Given the description of an element on the screen output the (x, y) to click on. 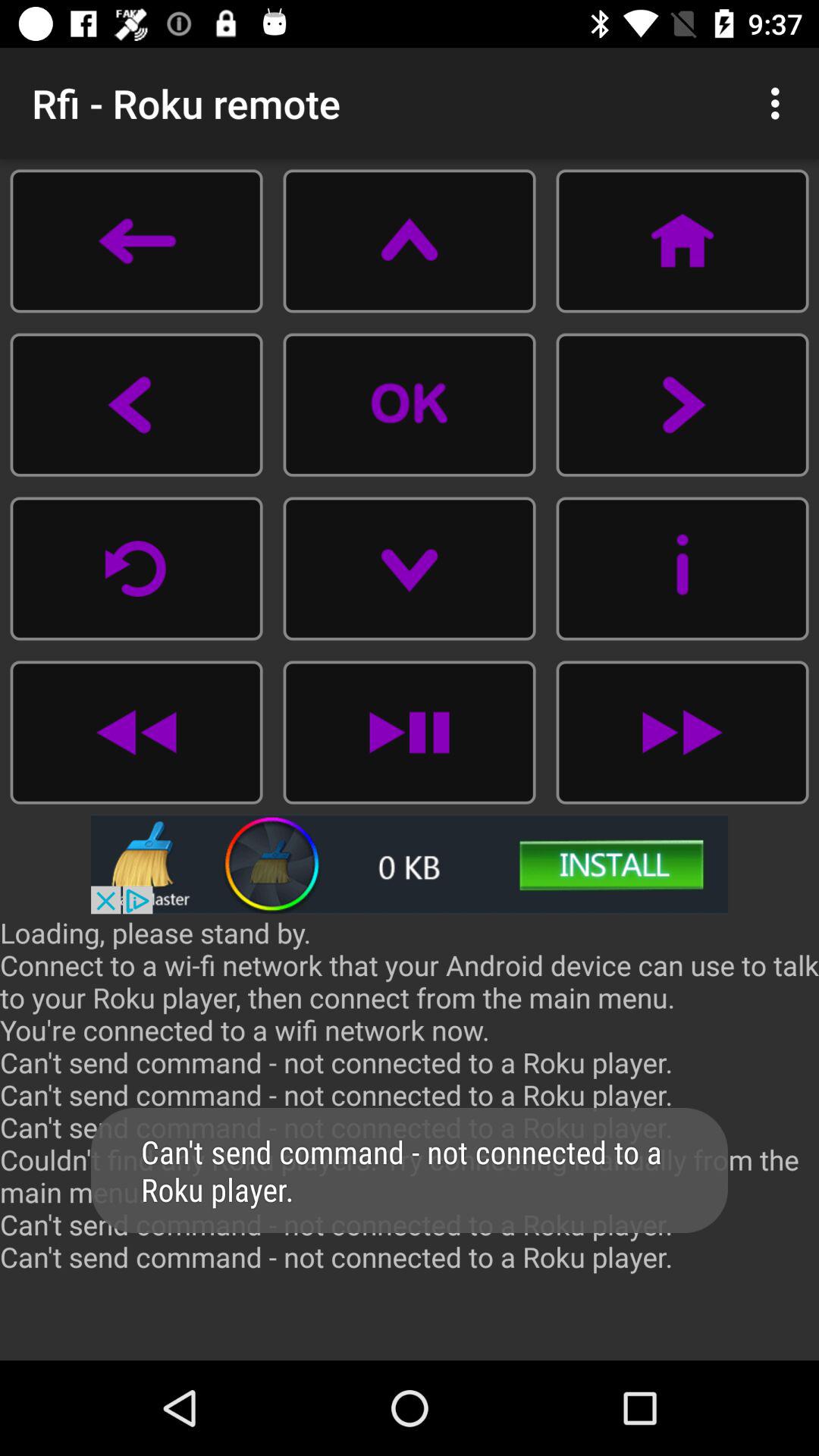
go to home (682, 240)
